Given the description of an element on the screen output the (x, y) to click on. 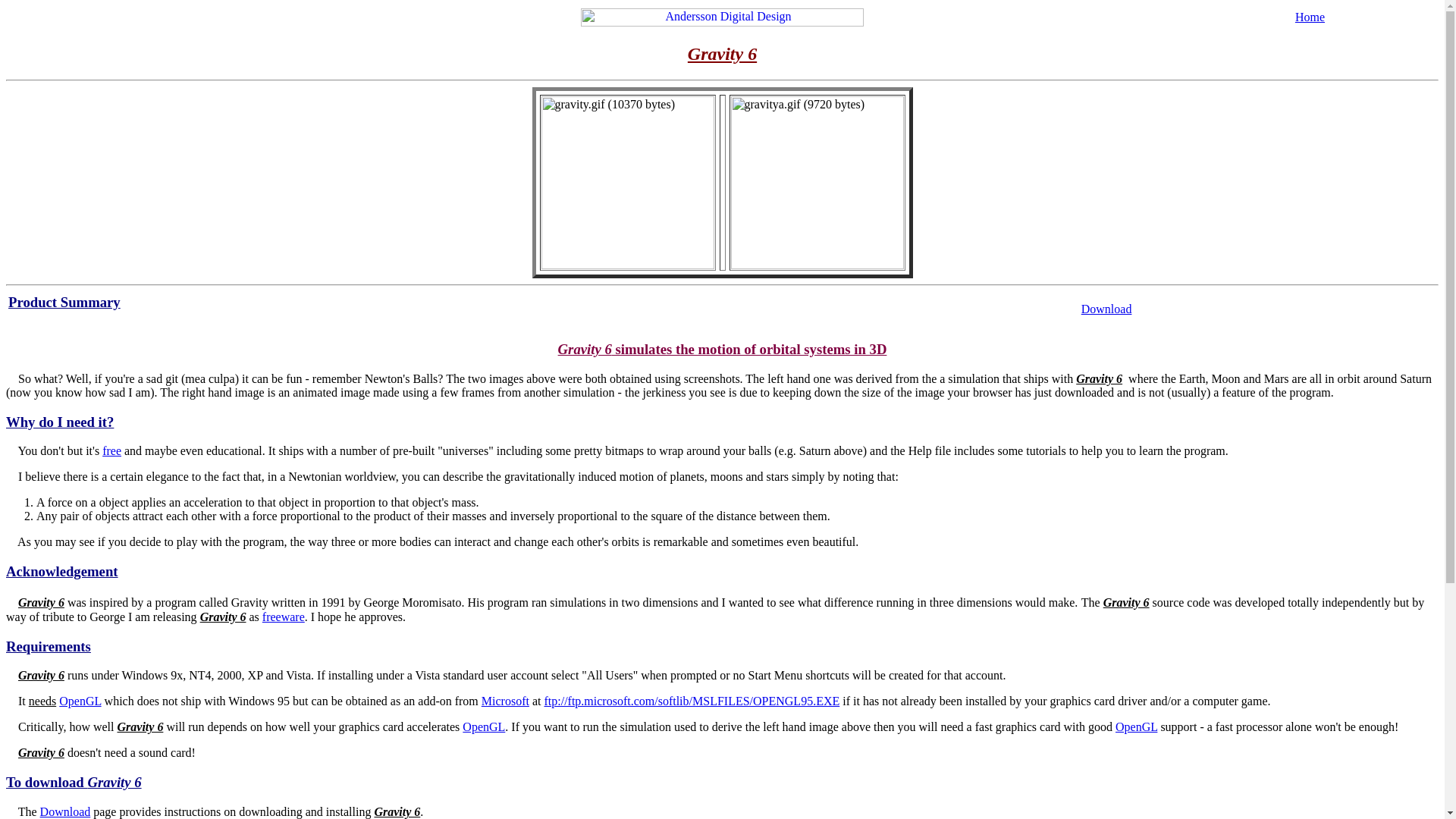
freeware (283, 616)
Microsoft (505, 700)
OpenGL (484, 726)
OpenGL (79, 700)
Home (1309, 16)
Download (65, 811)
free (110, 450)
OpenGL (1136, 726)
Download (1106, 308)
